Given the description of an element on the screen output the (x, y) to click on. 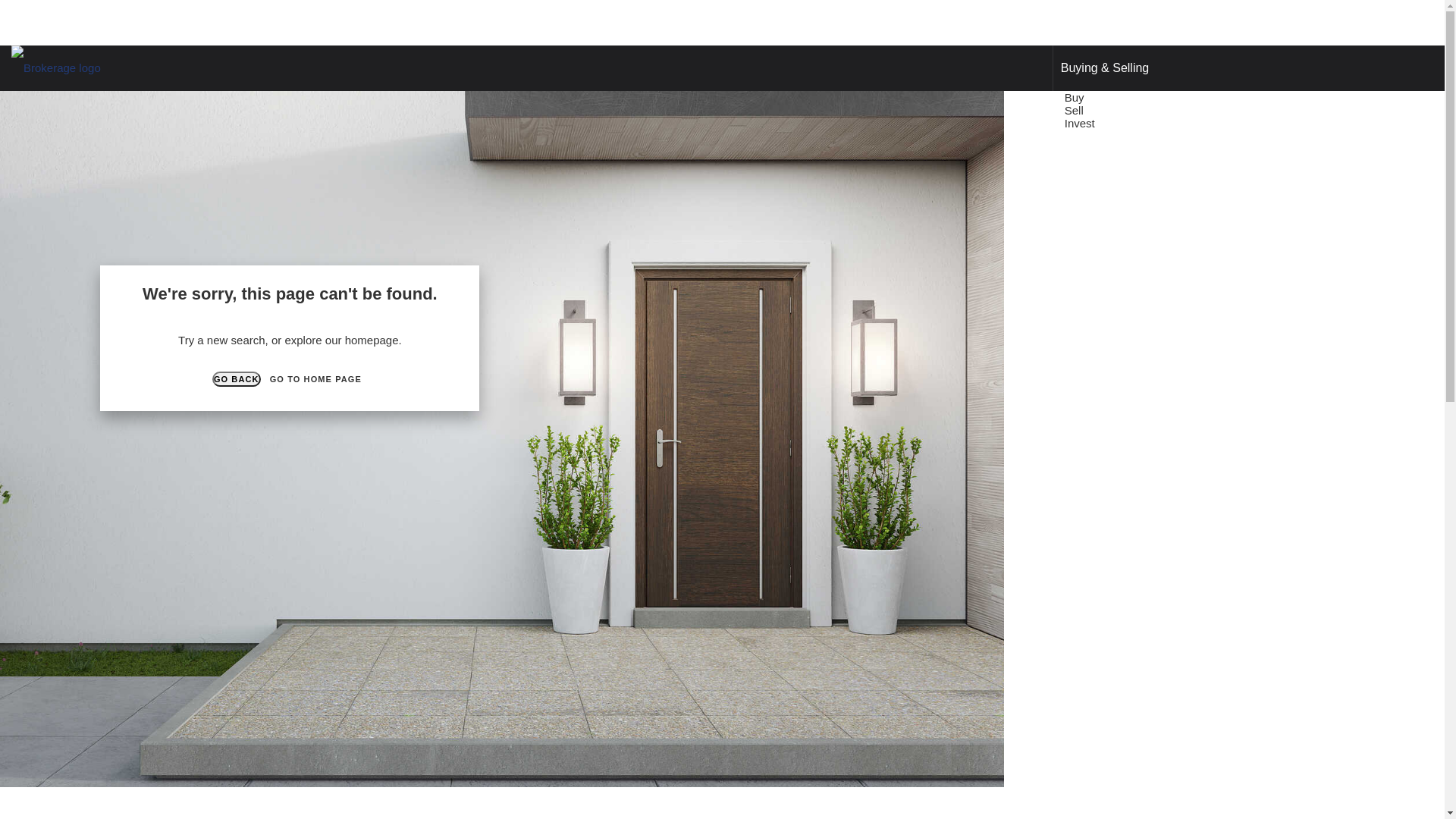
Home Element type: text (1028, 122)
Join Our Team Element type: text (1386, 122)
Contact Us Element type: text (1300, 122)
Blog Element type: text (1176, 122)
Buying & Selling Element type: text (1105, 67)
GO TO HOME PAGE Element type: text (315, 378)
GO BACK Element type: text (236, 378)
About Us Element type: text (1229, 122)
Sell Element type: text (1075, 110)
Buy Element type: text (1076, 97)
Invest Element type: text (1081, 123)
